Given the description of an element on the screen output the (x, y) to click on. 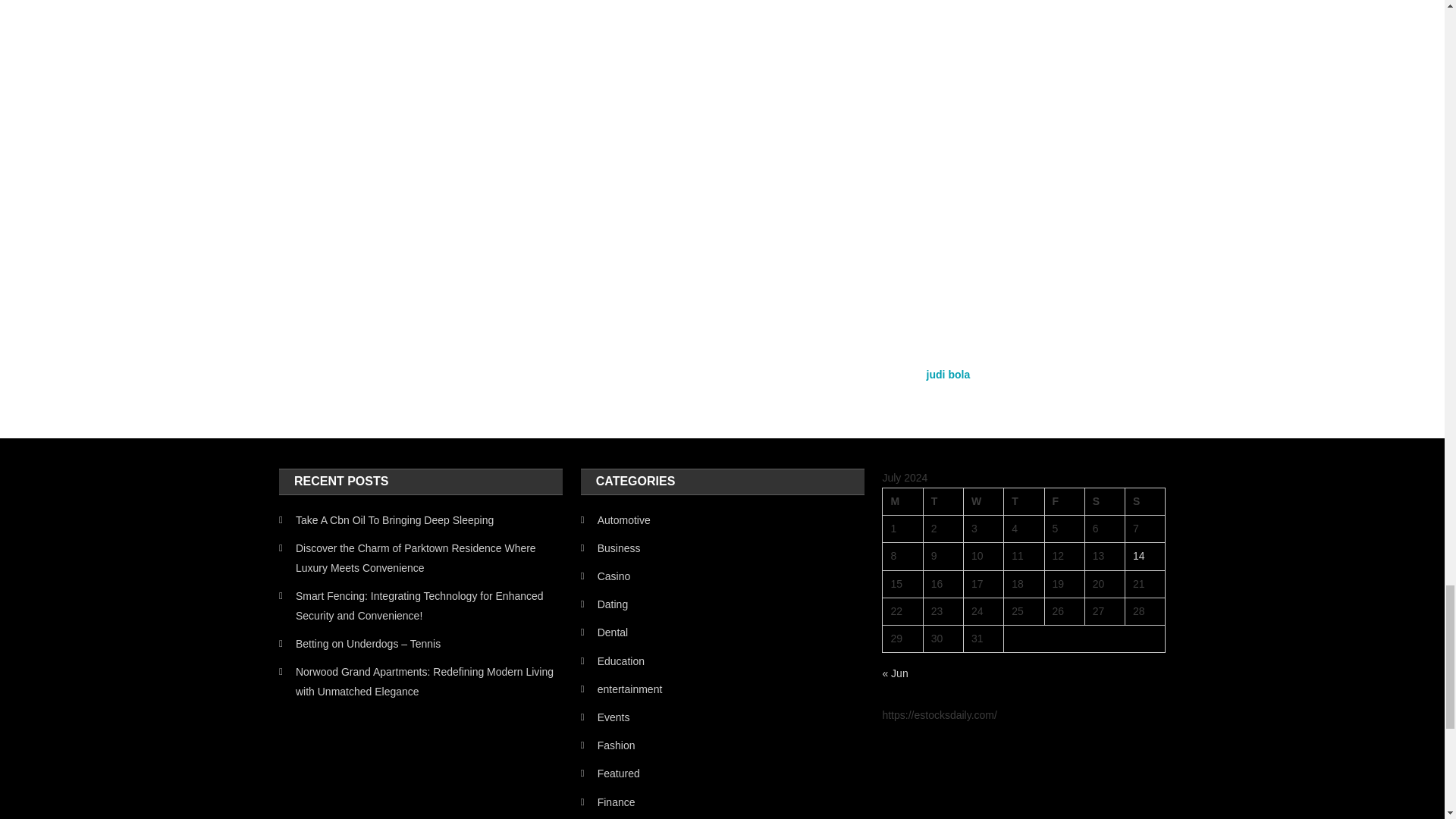
Sunday (1145, 501)
Tuesday (942, 501)
Wednesday (982, 501)
Friday (1063, 501)
Thursday (1023, 501)
Monday (902, 501)
Saturday (1104, 501)
